Given the description of an element on the screen output the (x, y) to click on. 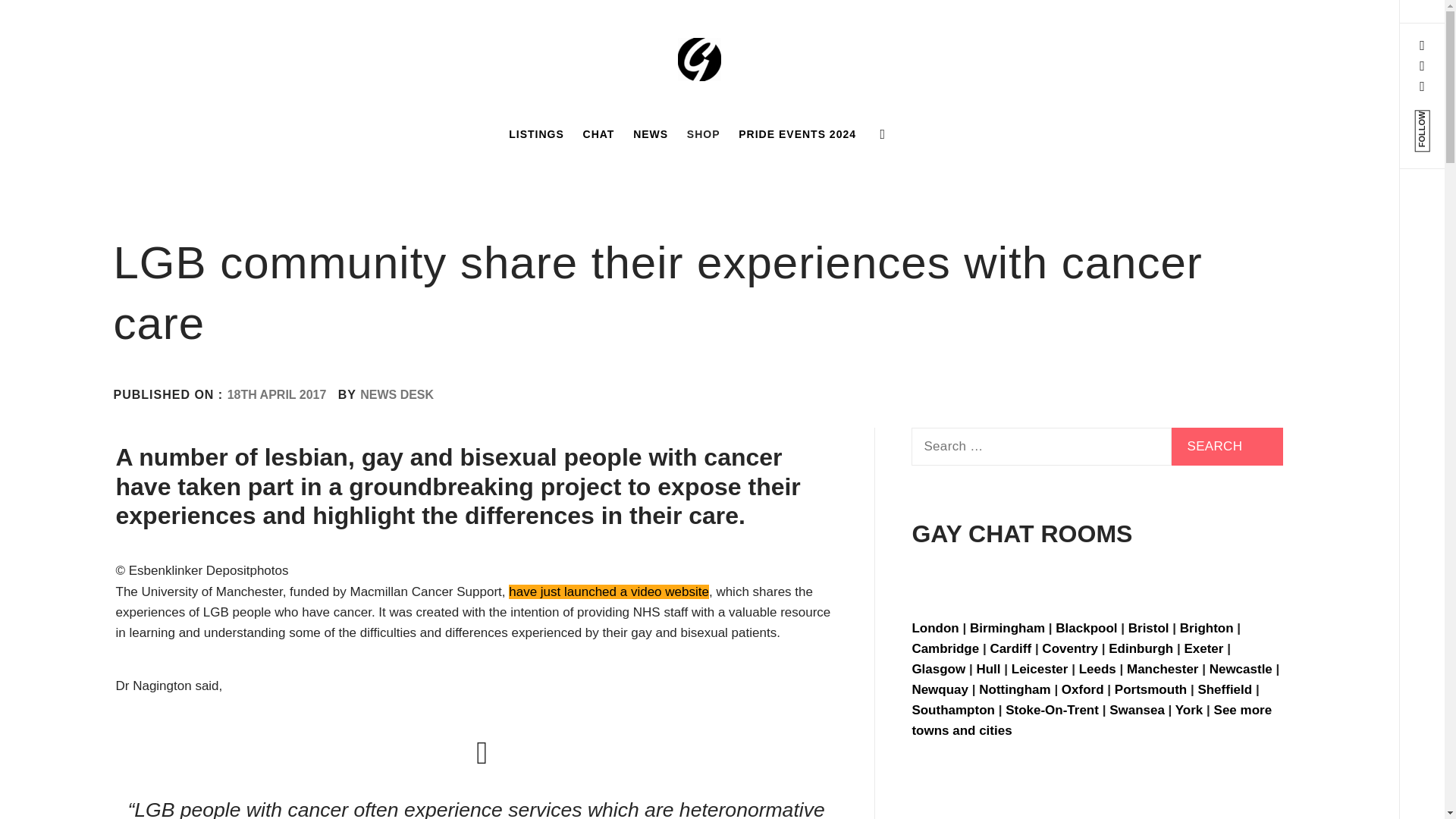
Search (646, 37)
Search (1227, 446)
PRIDE EVENTS 2024 (796, 134)
NEWS (650, 134)
NEWS DESK (396, 394)
CHAT (599, 134)
18TH APRIL 2017 (276, 394)
LISTINGS (536, 134)
Search (1227, 446)
SHOP (703, 134)
